Given the description of an element on the screen output the (x, y) to click on. 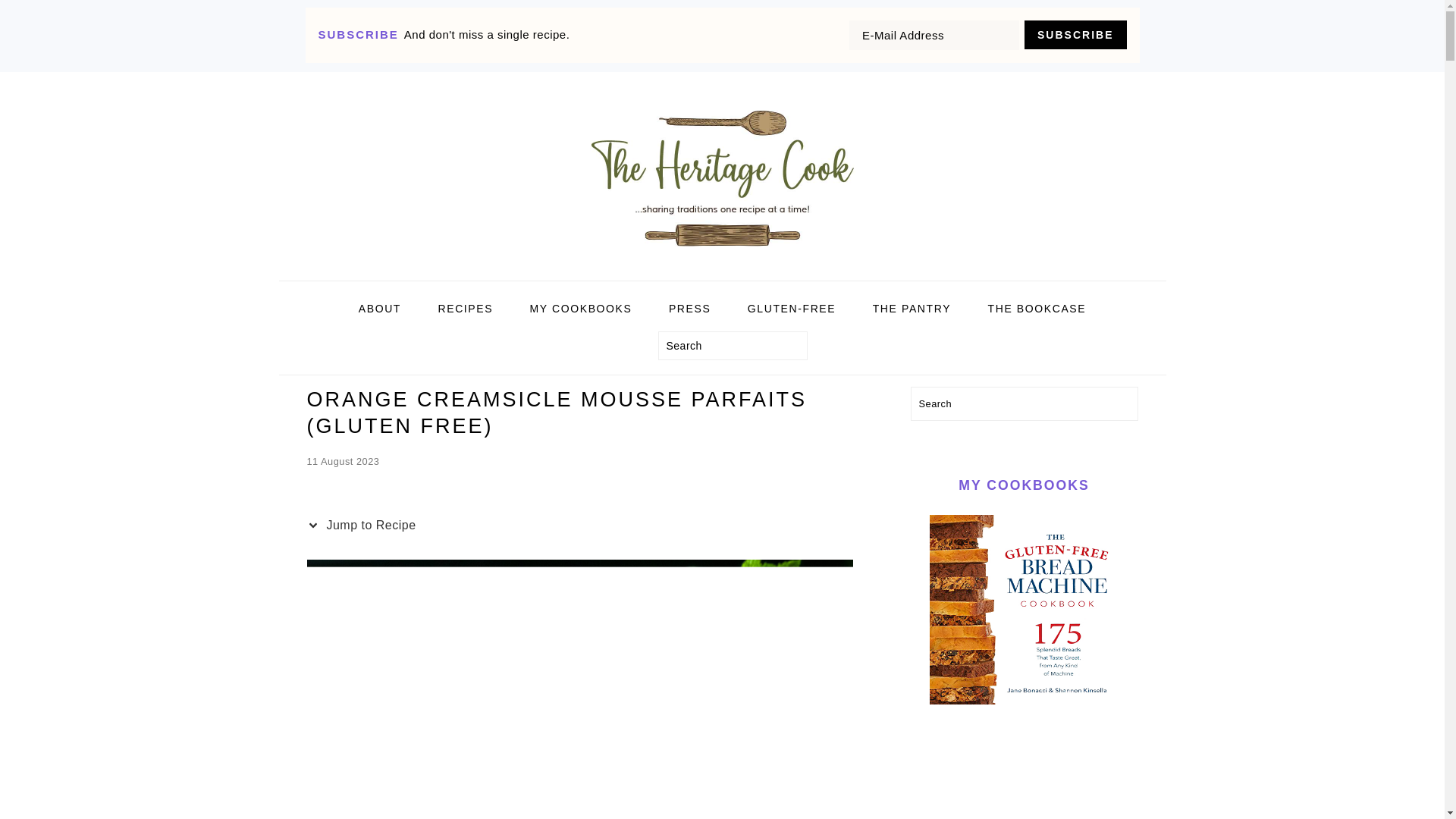
Subscribe (1075, 34)
RECIPES (465, 308)
MY COOKBOOKS (580, 308)
Jump to Recipe (364, 525)
GLUTEN-FREE (791, 308)
